Given the description of an element on the screen output the (x, y) to click on. 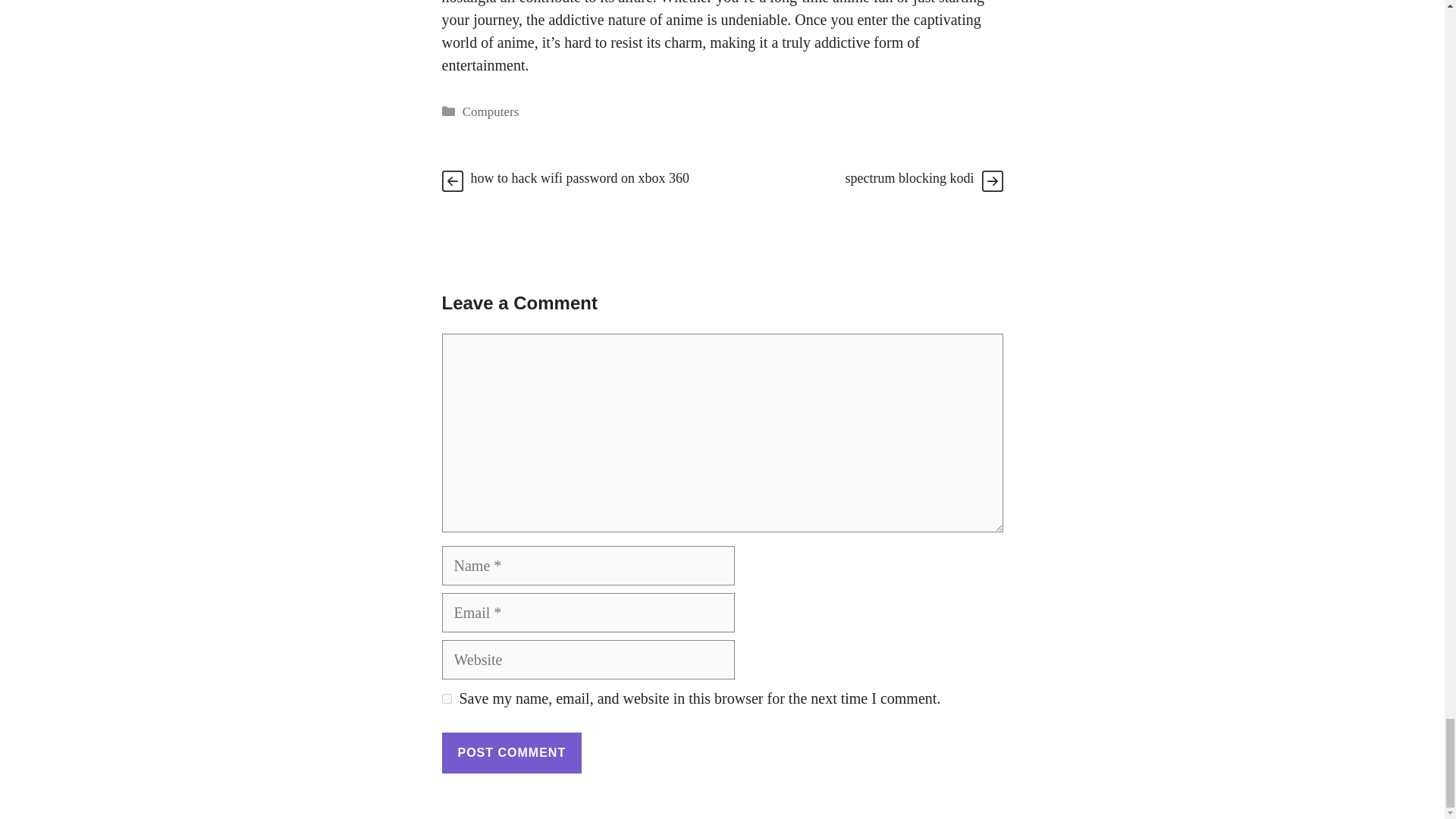
Computers (491, 111)
how to hack wifi password on xbox 360 (579, 177)
Post Comment (510, 752)
spectrum blocking kodi (909, 177)
Post Comment (510, 752)
yes (446, 697)
